Given the description of an element on the screen output the (x, y) to click on. 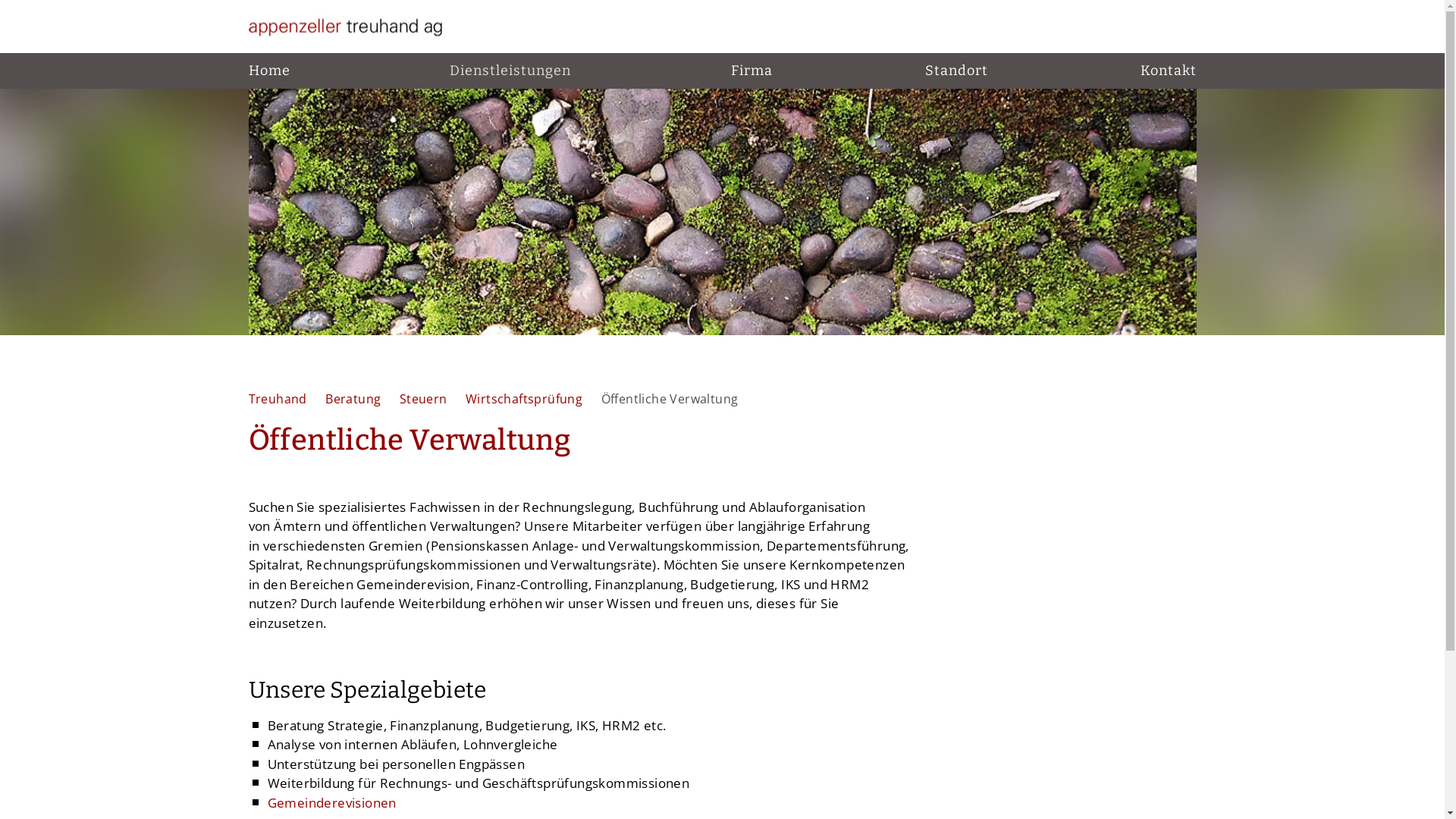
Gemeinderevisionen Element type: text (330, 802)
Beratung Element type: text (354, 398)
Home Element type: text (269, 70)
Standort Element type: text (956, 70)
Dienstleistungen Element type: text (506, 70)
Firma Element type: text (747, 70)
Steuern Element type: text (424, 398)
Kontakt Element type: text (1168, 70)
Treuhand Element type: text (279, 398)
